Given the description of an element on the screen output the (x, y) to click on. 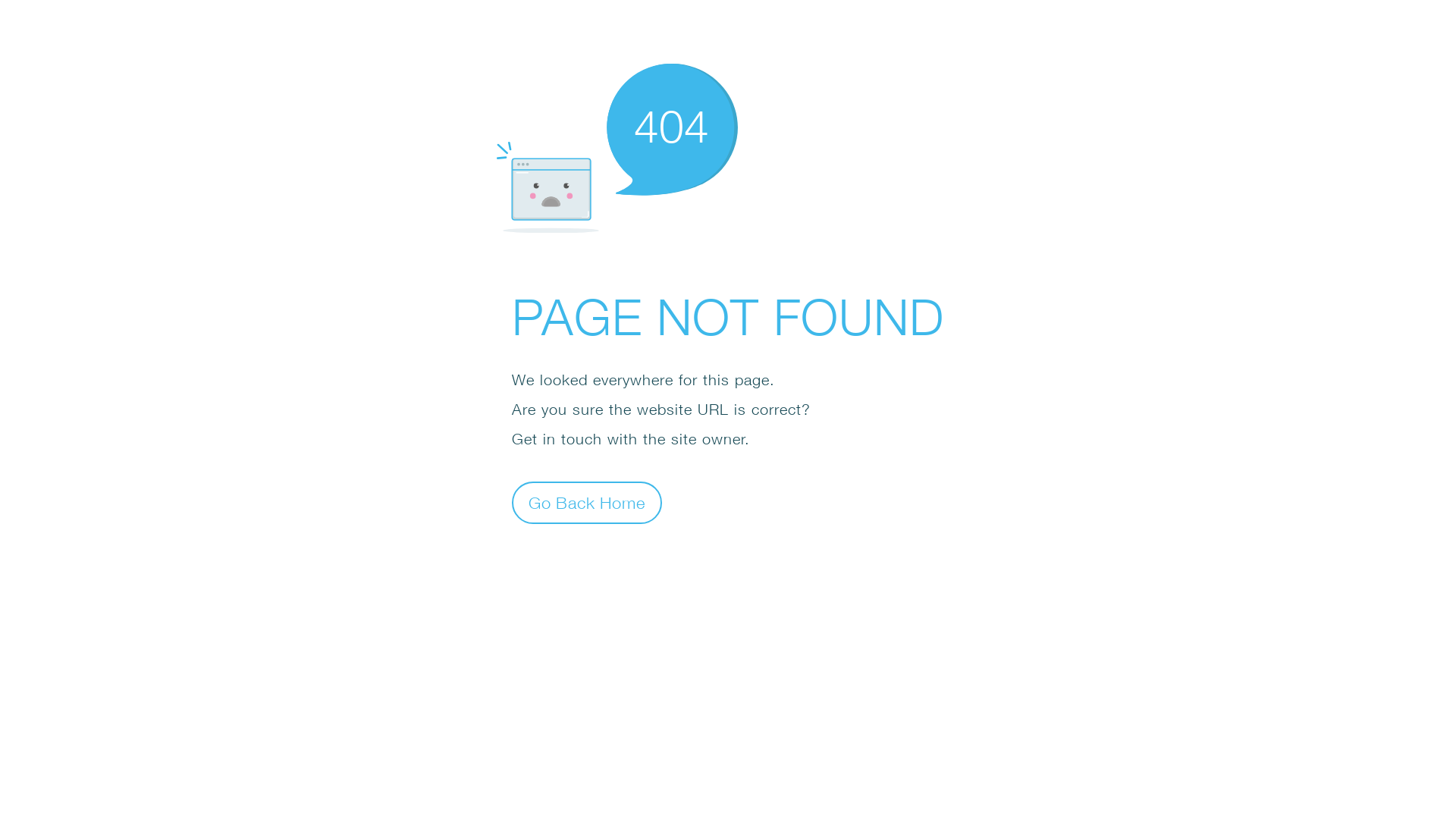
Go Back Home Element type: text (586, 502)
